Given the description of an element on the screen output the (x, y) to click on. 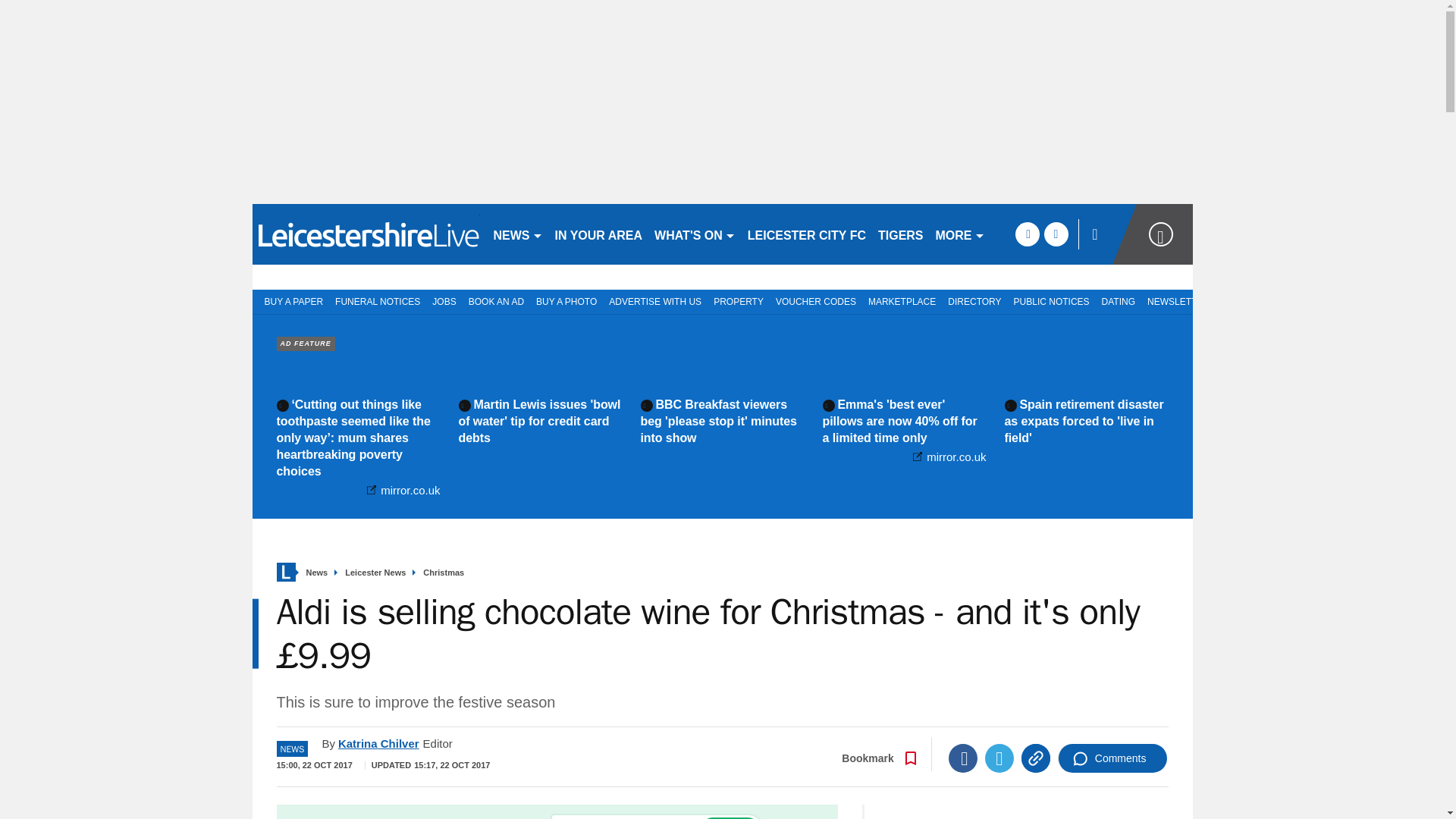
WHAT'S ON (694, 233)
facebook (1026, 233)
leicestermercury (365, 233)
Go (730, 818)
NEWS (517, 233)
LEICESTER CITY FC (806, 233)
Comments (1112, 758)
twitter (1055, 233)
MORE (960, 233)
Twitter (999, 758)
